Given the description of an element on the screen output the (x, y) to click on. 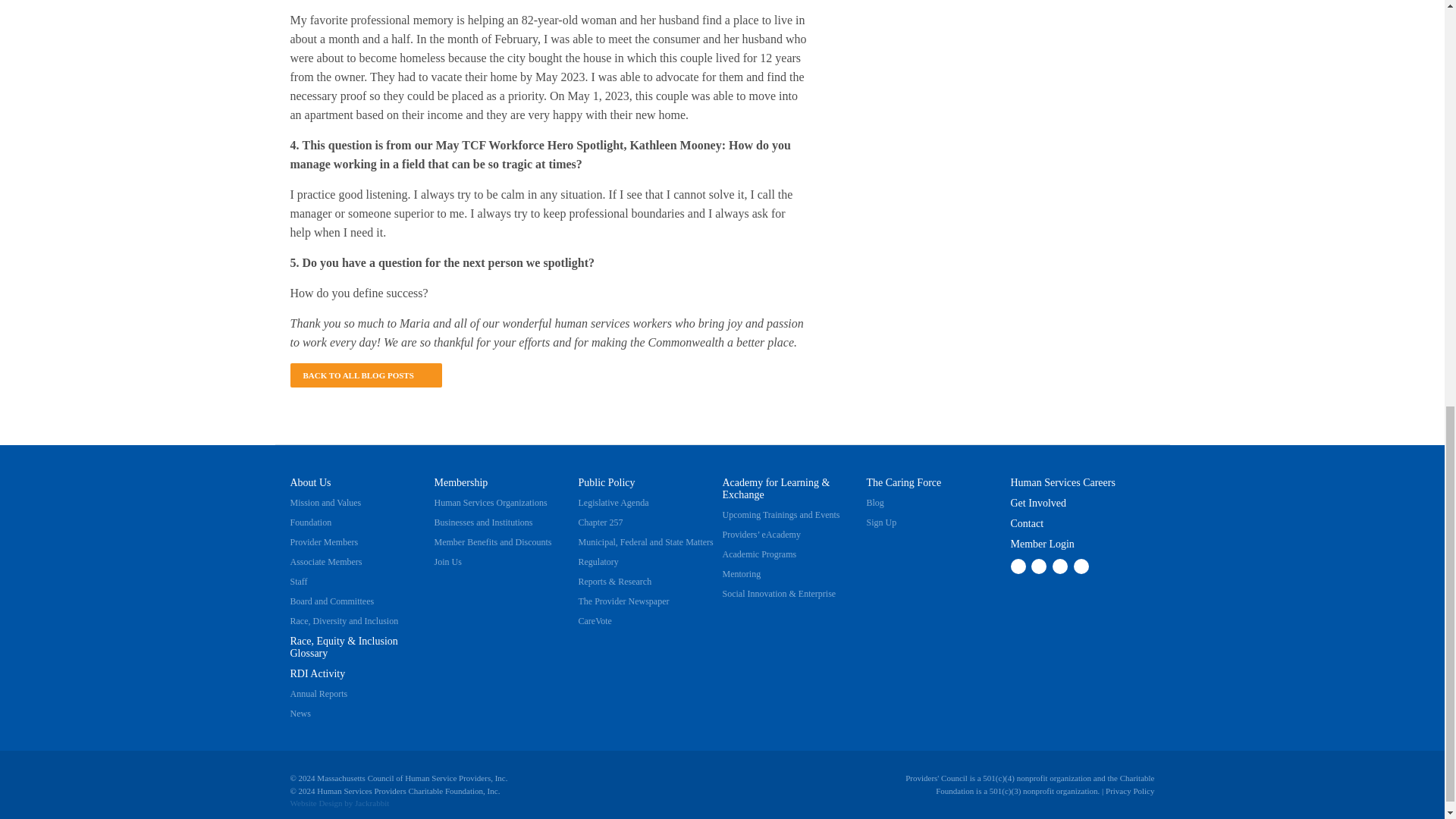
Website Design by Jackrabbit (315, 802)
Website Design by Jackrabbit (371, 802)
Privacy Policy (1129, 789)
